Given the description of an element on the screen output the (x, y) to click on. 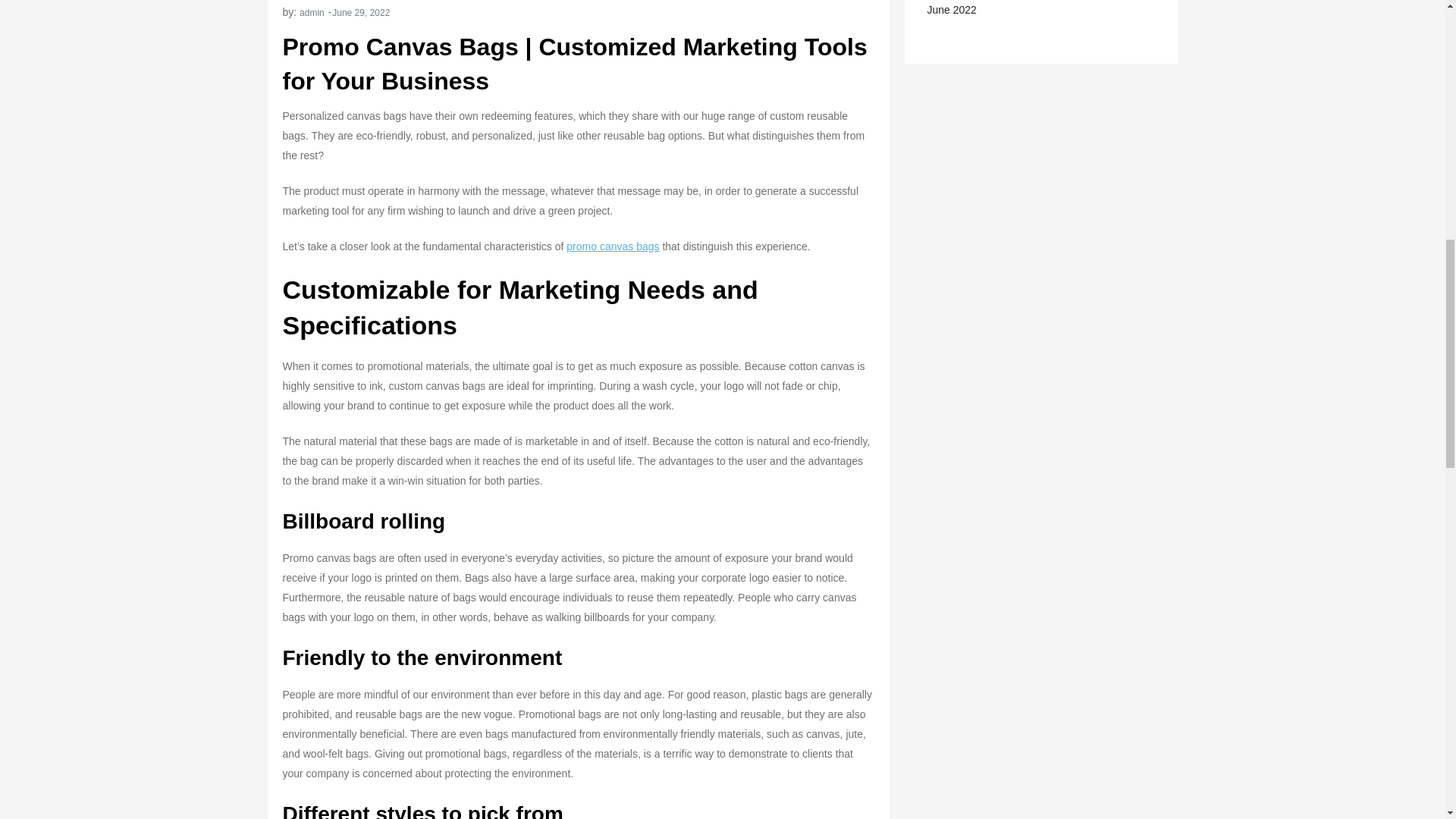
June 29, 2022 (360, 12)
promo canvas bags (612, 246)
June 2022 (950, 9)
admin (311, 12)
